Given the description of an element on the screen output the (x, y) to click on. 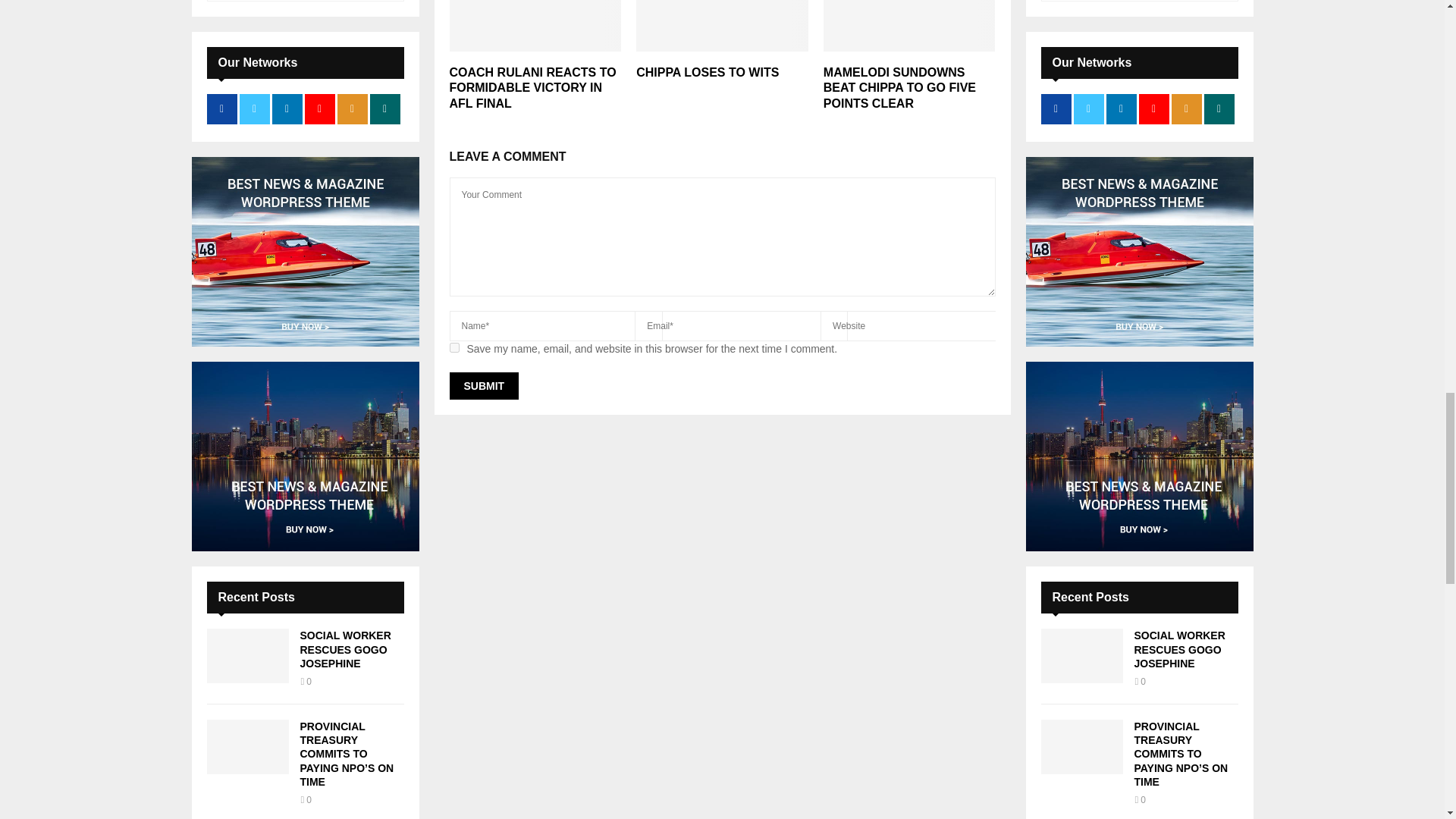
yes (453, 347)
Submit (483, 385)
